Given the description of an element on the screen output the (x, y) to click on. 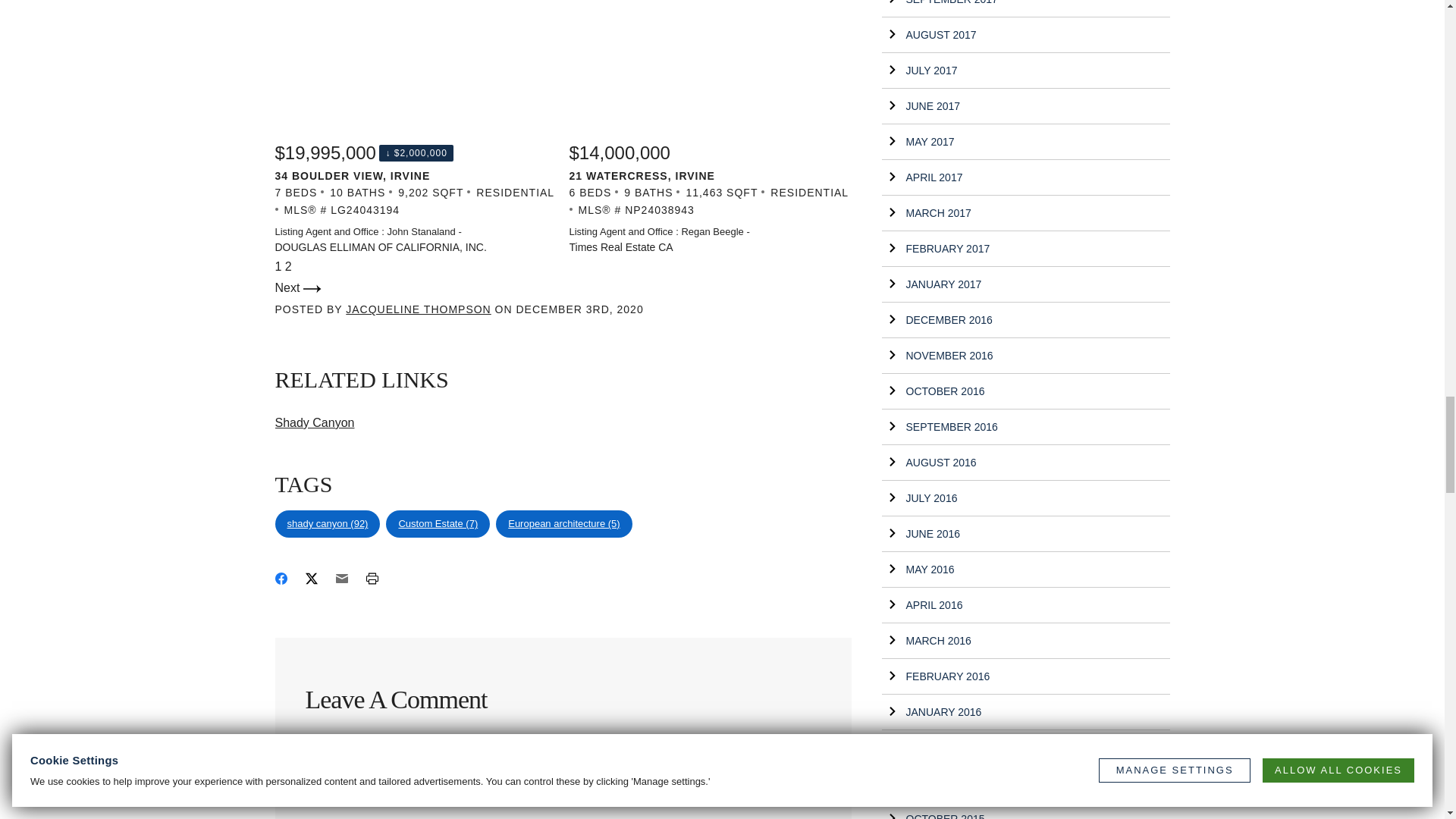
Custom Estate (437, 523)
European architecture (563, 523)
Shady Canyon (314, 422)
Next Page (297, 287)
shady canyon (327, 523)
